Given the description of an element on the screen output the (x, y) to click on. 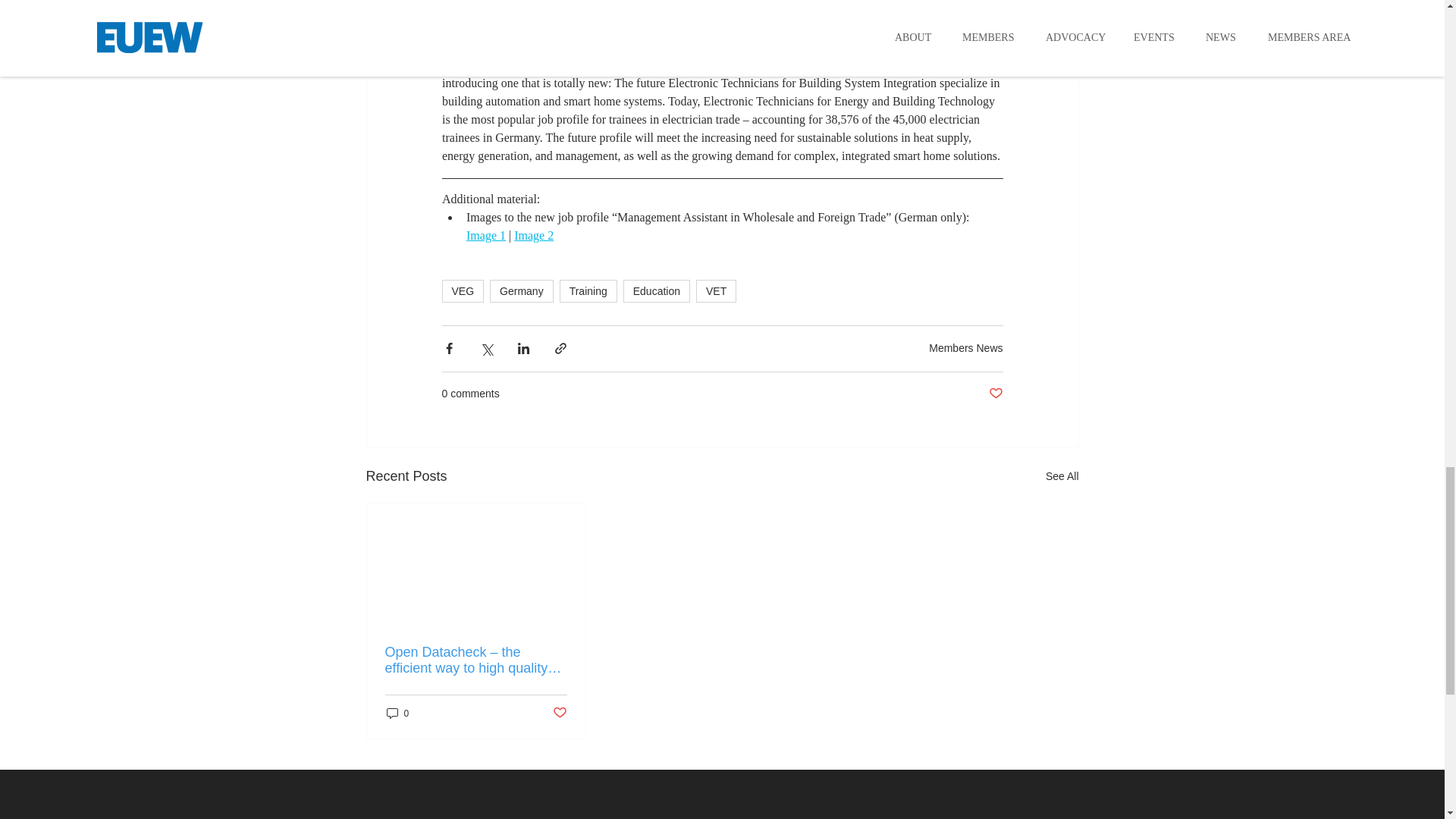
Image 2 (533, 235)
Post not marked as liked (995, 393)
Image 1 (485, 235)
Members News (965, 347)
See All (1061, 476)
VET (715, 291)
0 (397, 712)
Education (656, 291)
Training (588, 291)
VEG (462, 291)
Germany (521, 291)
